Given the description of an element on the screen output the (x, y) to click on. 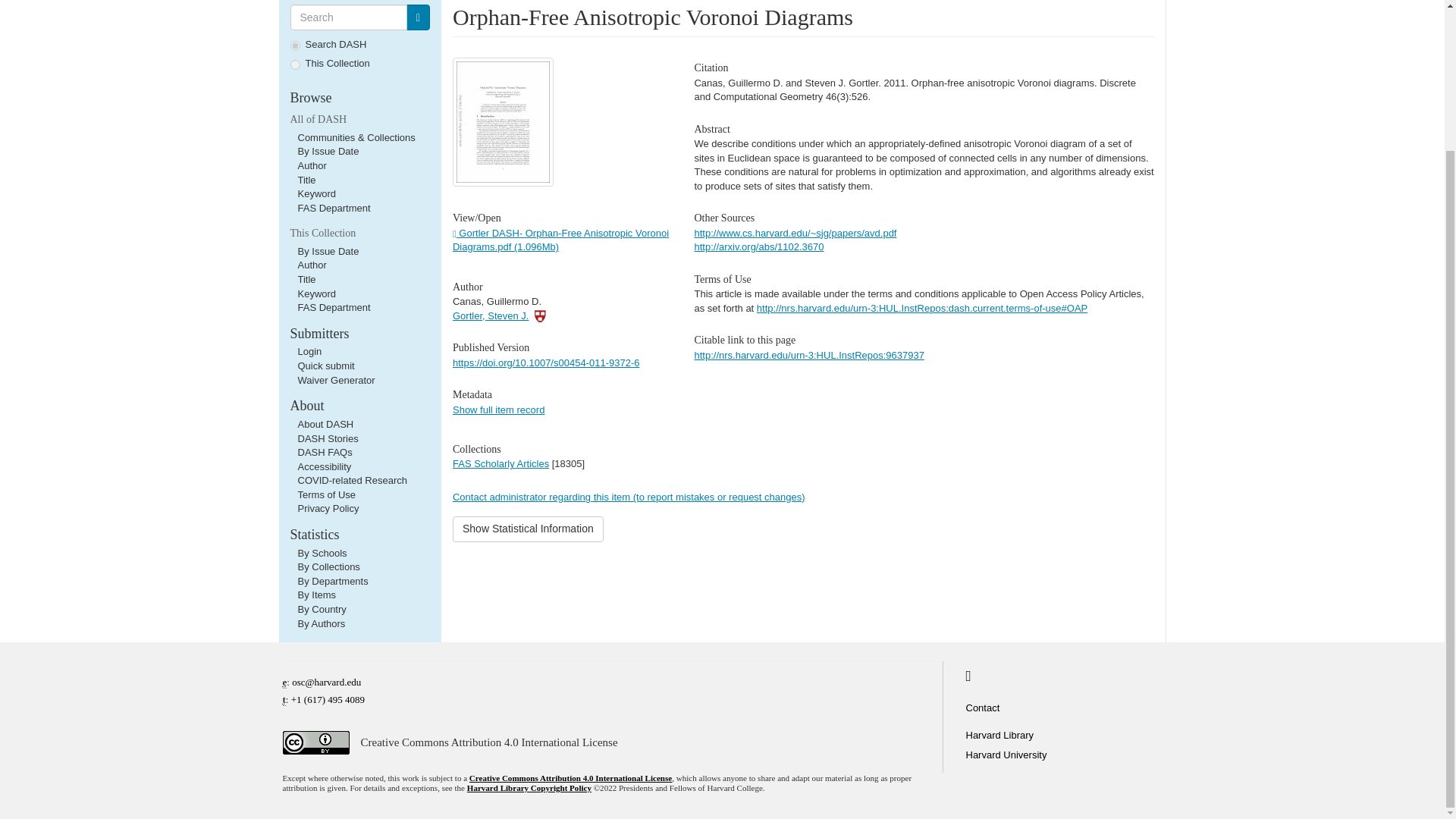
Author (311, 165)
FAS Department (333, 207)
HARVARD AFFILIATED (540, 315)
By Issue Date (327, 151)
Quick submit (325, 365)
Title (306, 279)
Keyword (316, 193)
Title (306, 179)
Keyword (316, 293)
FAS Department (333, 307)
By Issue Date (327, 251)
Author (311, 265)
Go (417, 17)
Login (309, 351)
